Given the description of an element on the screen output the (x, y) to click on. 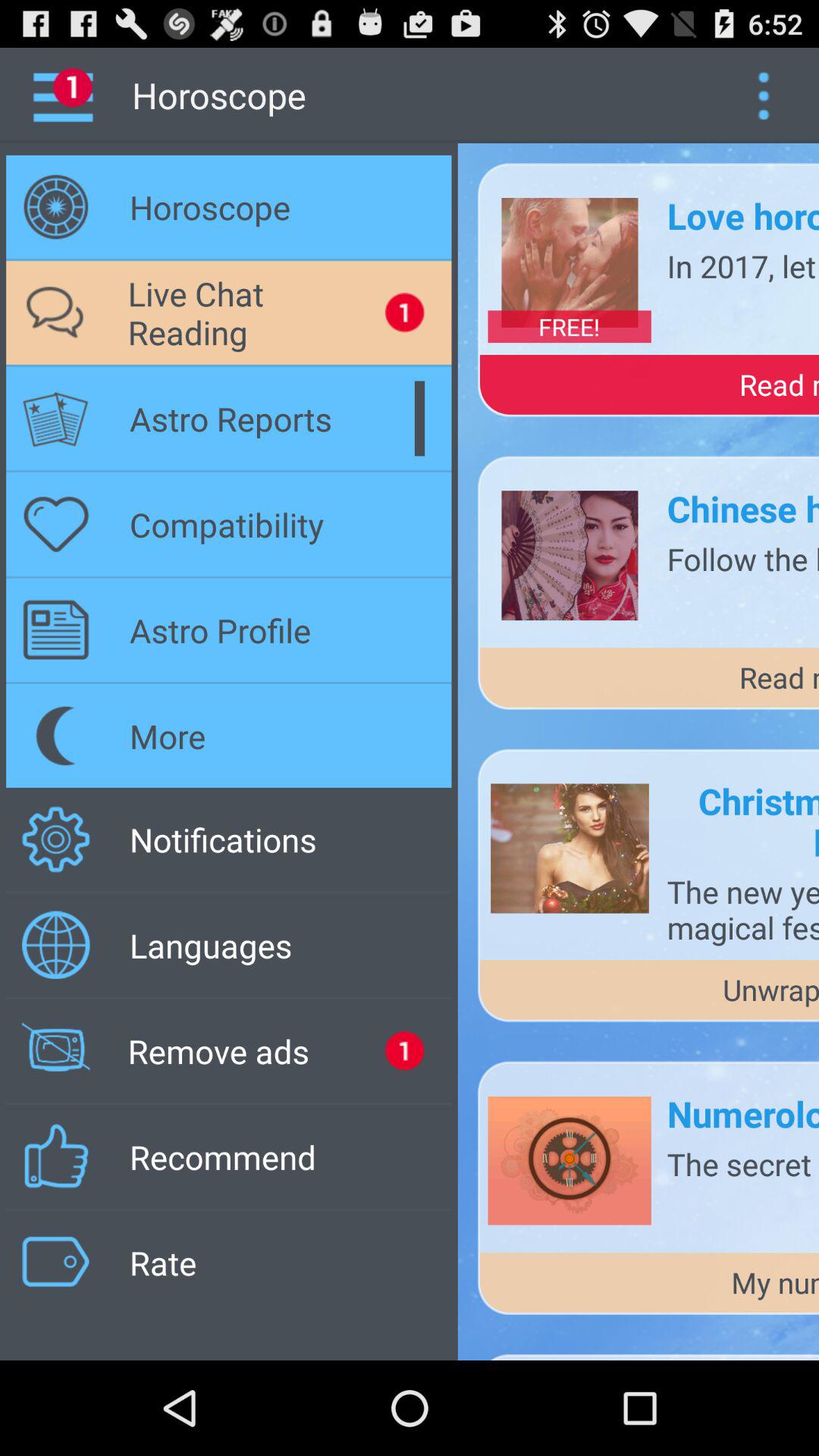
press icon above the read my horoscope icon (569, 326)
